Given the description of an element on the screen output the (x, y) to click on. 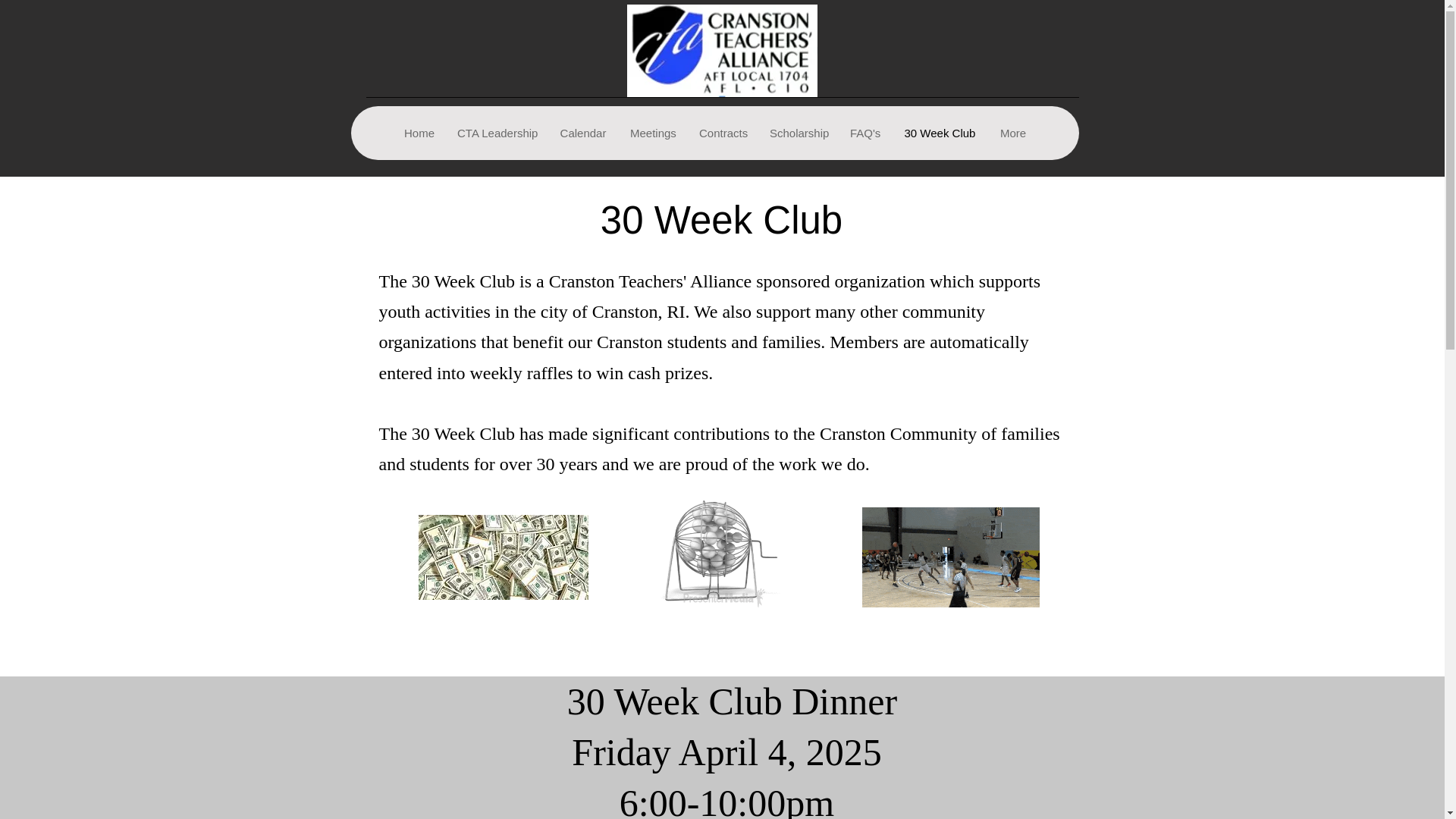
FAQ's (864, 132)
Calendar (582, 132)
Home (418, 132)
CTA Leadership (496, 132)
Meetings (652, 132)
30 Week Club (939, 132)
Contracts (722, 132)
Scholarship (797, 132)
